Given the description of an element on the screen output the (x, y) to click on. 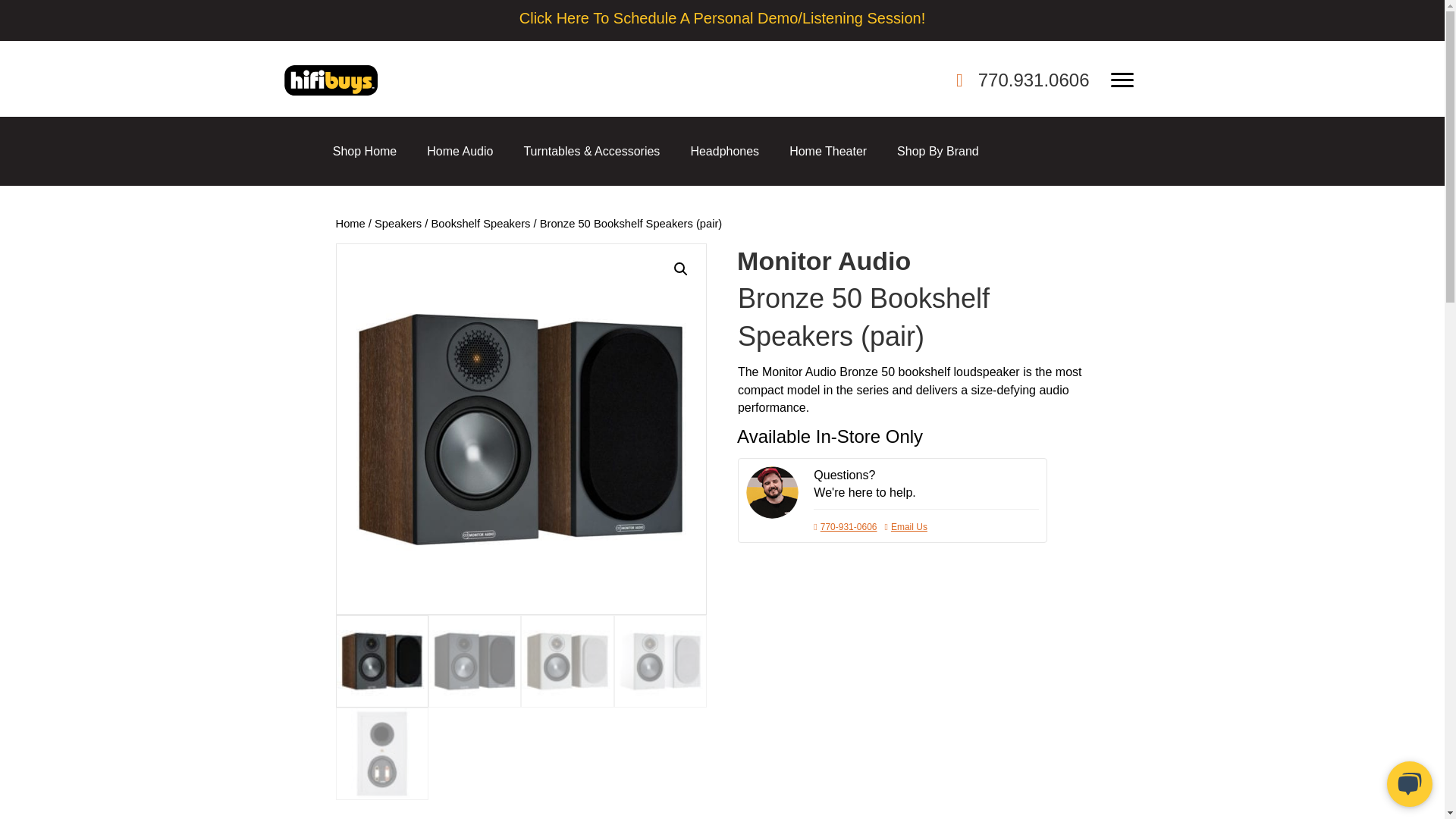
Shop Home (364, 151)
Home Audio (460, 151)
Headphones (724, 151)
770.931.0606 (1033, 79)
HiFi Buys (330, 80)
